Given the description of an element on the screen output the (x, y) to click on. 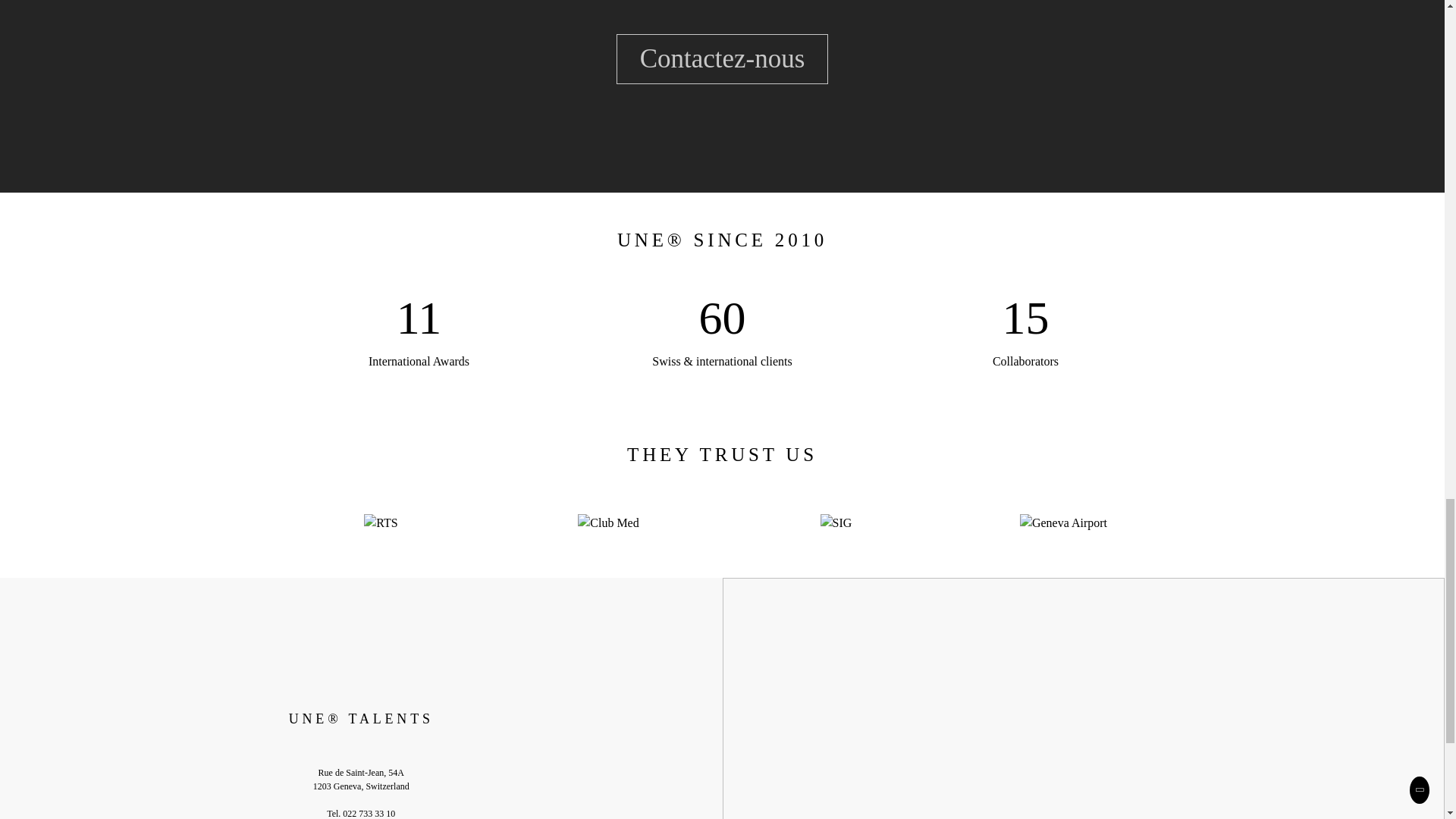
022 733 33 10 (368, 813)
Contactez-nous (721, 59)
